Given the description of an element on the screen output the (x, y) to click on. 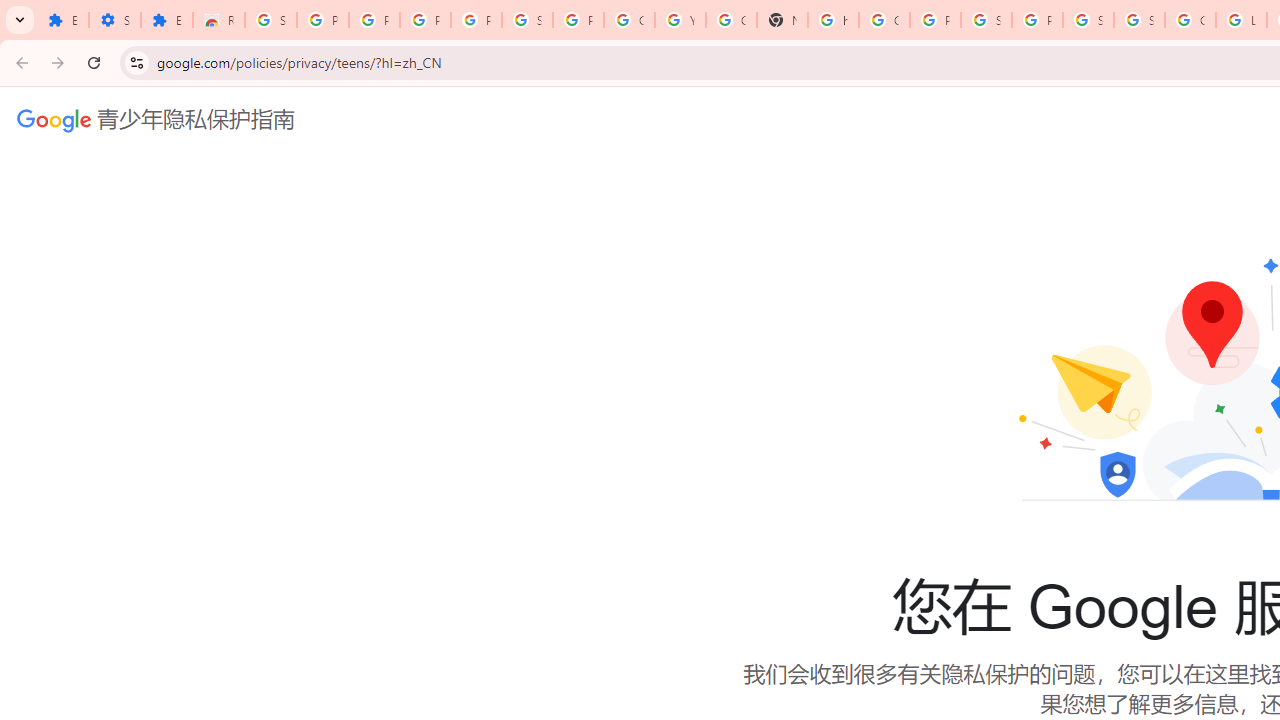
Sign in - Google Accounts (1138, 20)
https://scholar.google.com/ (832, 20)
Reviews: Helix Fruit Jump Arcade Game (218, 20)
Sign in - Google Accounts (1087, 20)
